Given the description of an element on the screen output the (x, y) to click on. 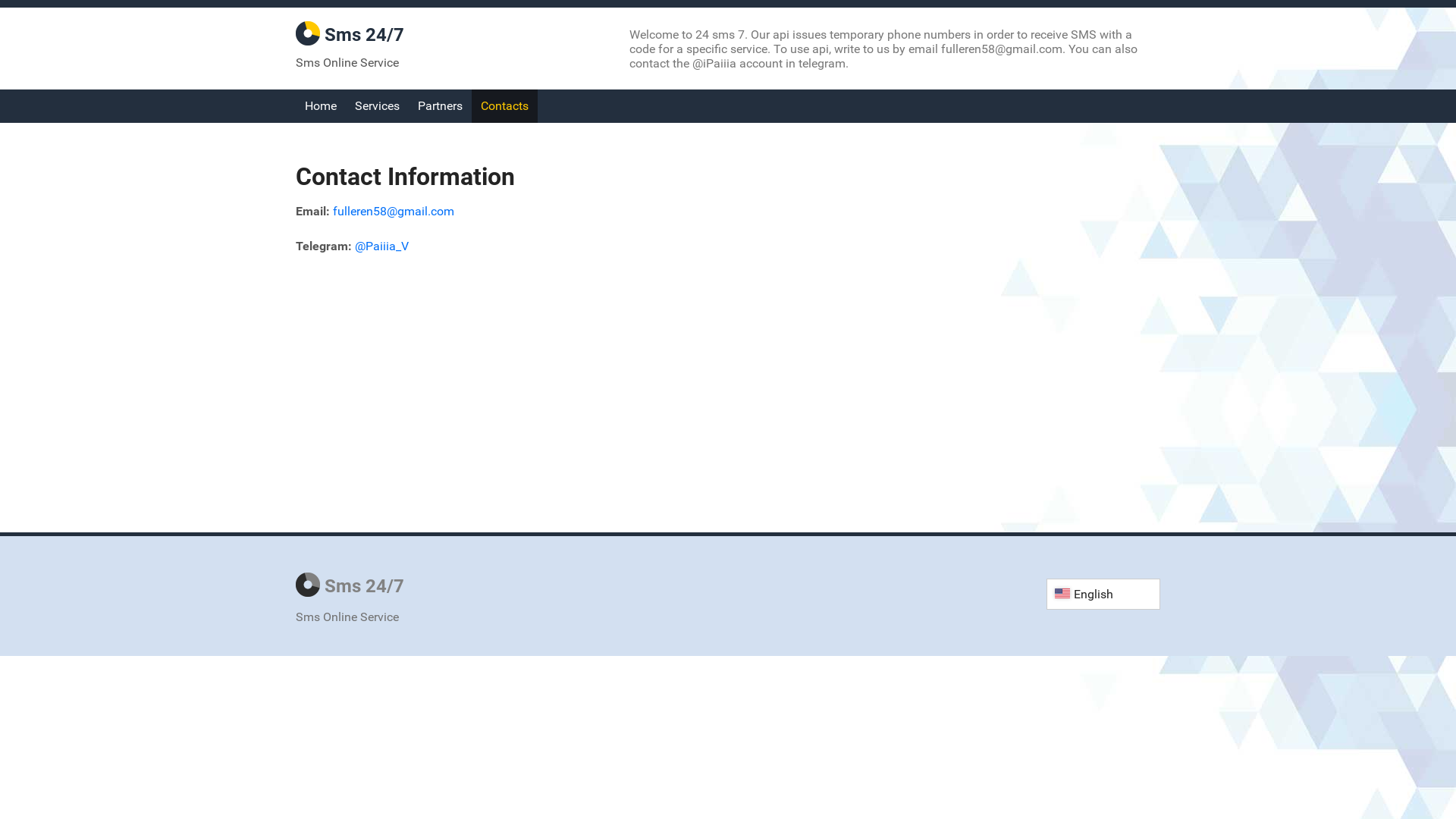
fulleren58@gmail.com Element type: text (393, 210)
@Paiiia_V Element type: text (381, 245)
Contacts Element type: text (504, 105)
Partners Element type: text (439, 105)
Home Element type: text (320, 105)
Services Element type: text (376, 105)
Sms 24/7
Sms Online Service Element type: text (371, 603)
Sms 24/7
Sms Online Service Element type: text (371, 44)
